Given the description of an element on the screen output the (x, y) to click on. 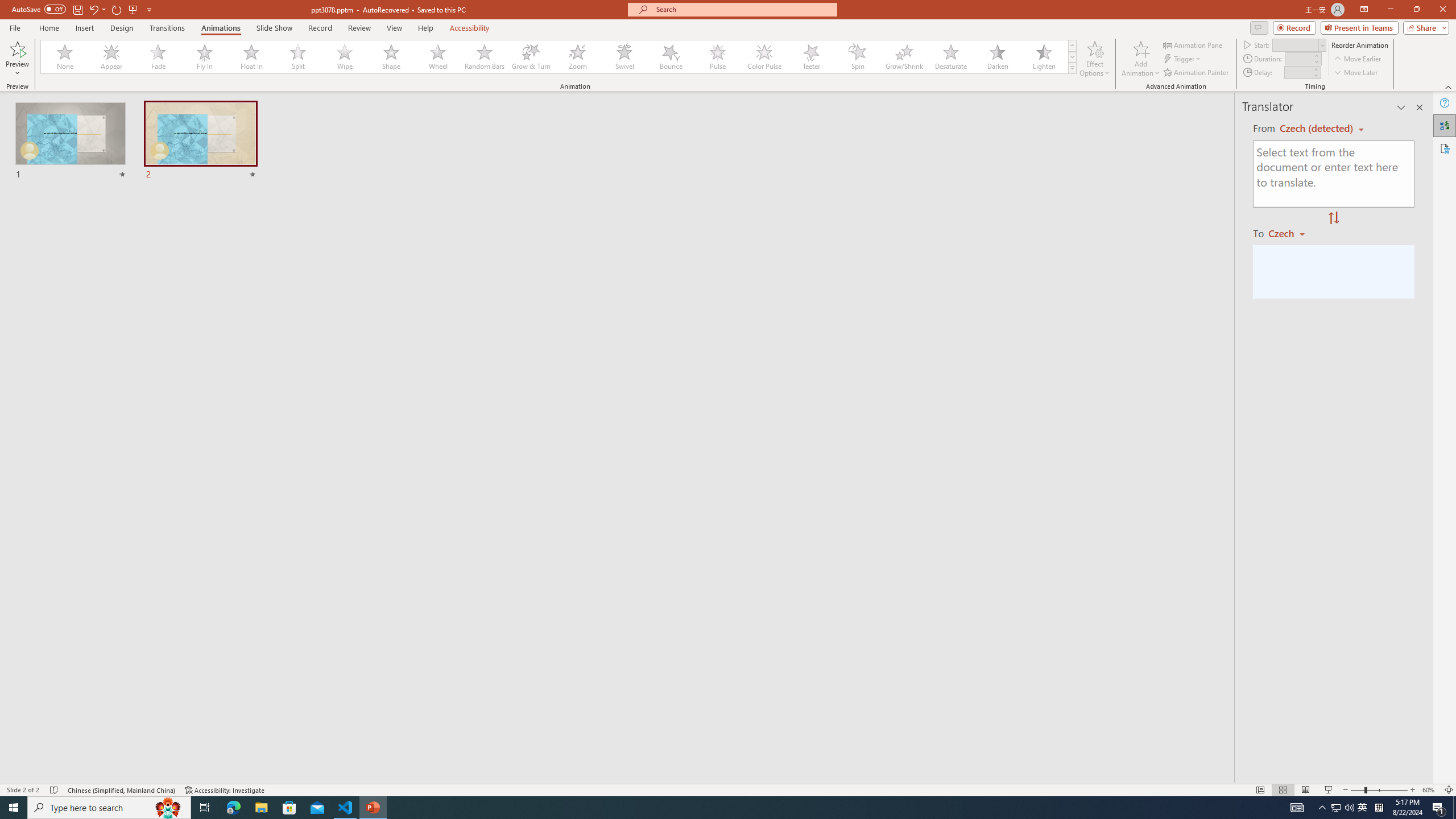
Effect Options (1094, 58)
Move Later (1355, 72)
Add Animation (1141, 58)
Czech (detected) (1317, 128)
